Given the description of an element on the screen output the (x, y) to click on. 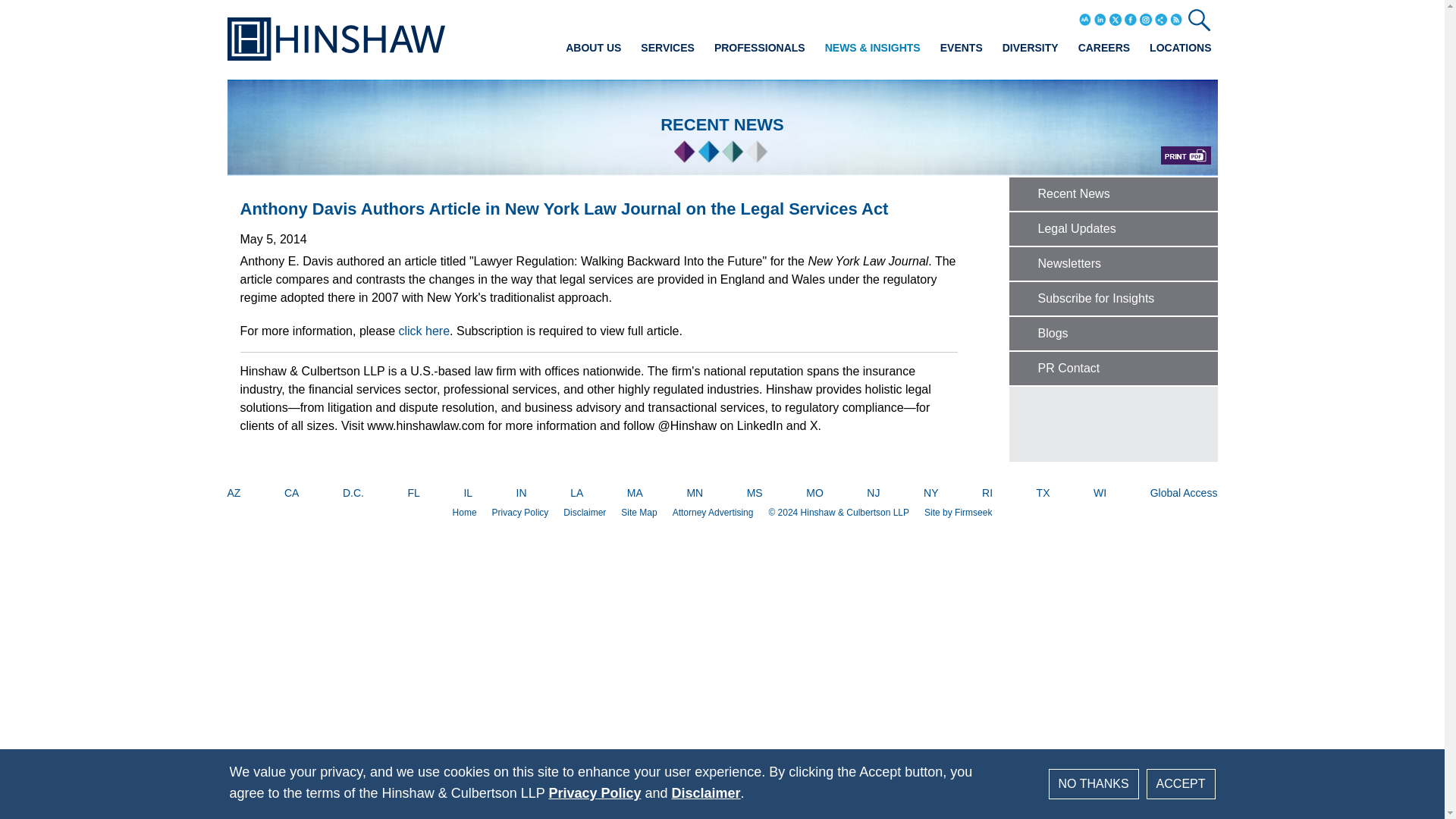
Menu (680, 16)
Main Content (674, 16)
ABOUT US (593, 47)
PROFESSIONALS (759, 47)
Main Menu (680, 16)
SERVICES (667, 47)
